Given the description of an element on the screen output the (x, y) to click on. 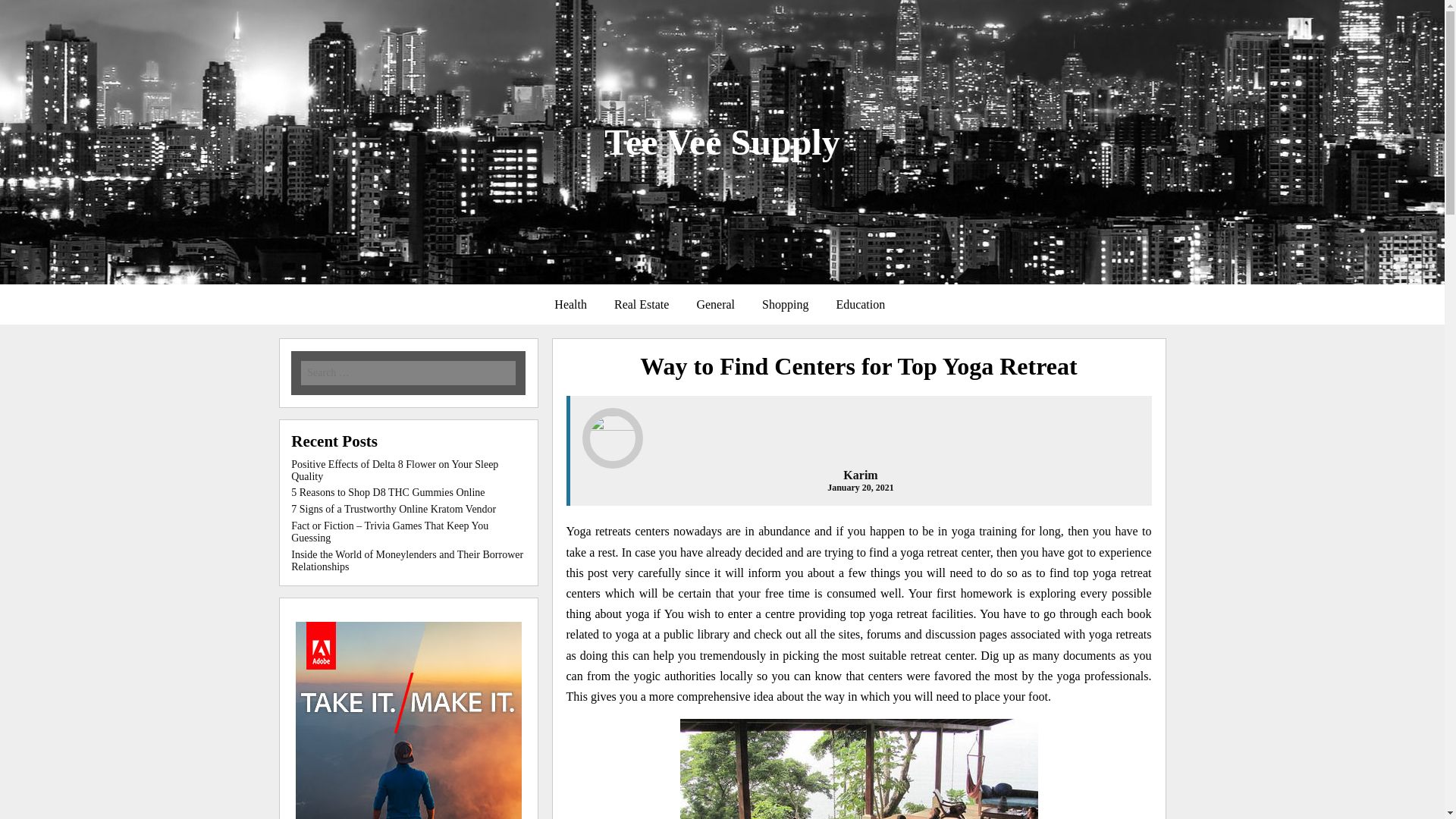
General (715, 304)
7:05 am (860, 487)
Shopping (785, 304)
Positive Effects of Delta 8 Flower on Your Sleep Quality (394, 470)
Tee Vee Supply (722, 142)
View all posts by Karim (860, 474)
Karim (860, 474)
Health (569, 304)
Search (216, 11)
7 Signs of a Trustworthy Online Kratom Vendor (393, 509)
